Given the description of an element on the screen output the (x, y) to click on. 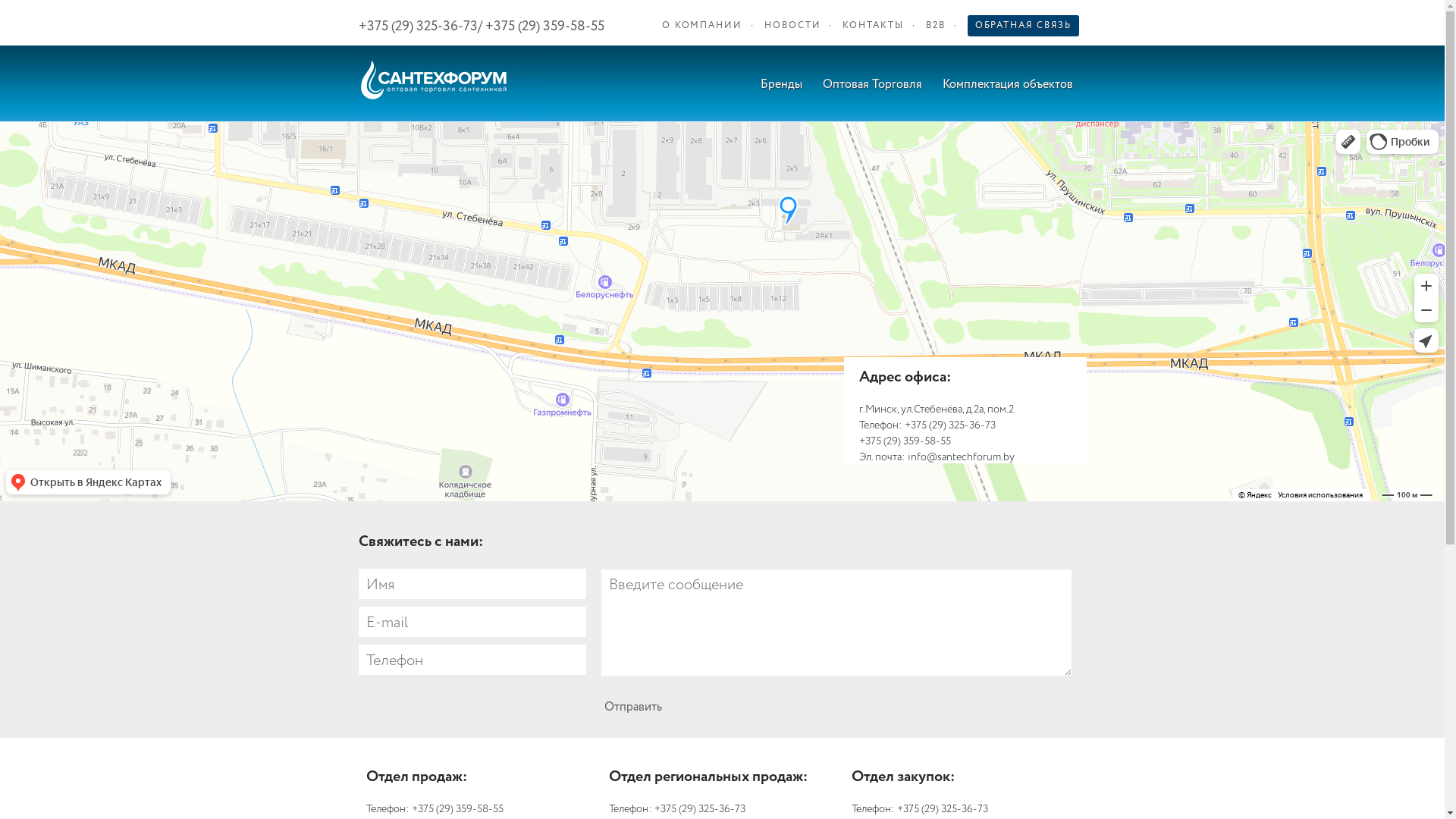
B2B Element type: text (935, 25)
